Given the description of an element on the screen output the (x, y) to click on. 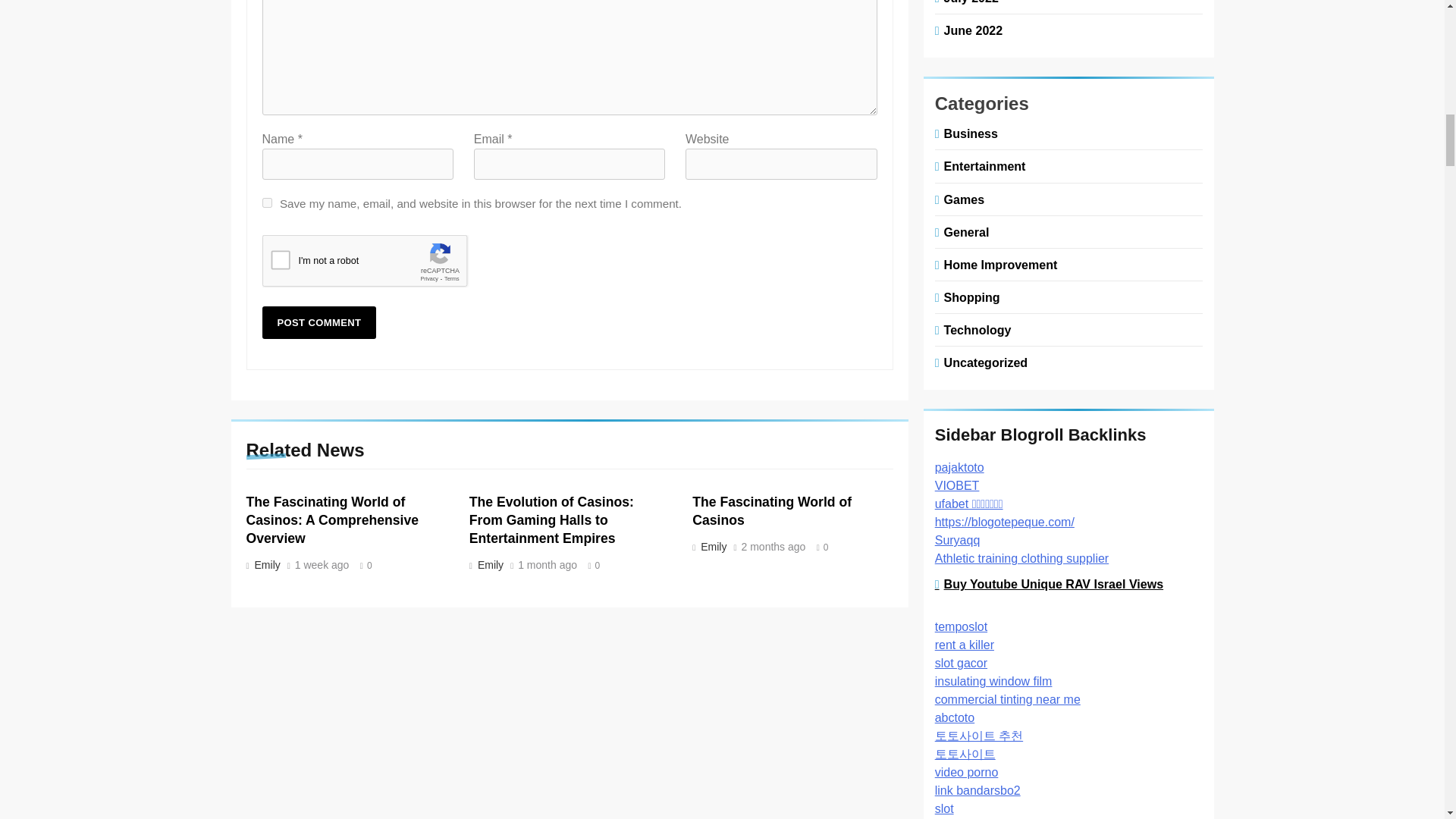
reCAPTCHA (377, 264)
Emily (265, 564)
Post Comment (319, 322)
1 month ago (547, 565)
Emily (488, 564)
yes (267, 203)
1 week ago (322, 565)
The Fascinating World of Casinos: A Comprehensive Overview (331, 520)
Post Comment (319, 322)
